Given the description of an element on the screen output the (x, y) to click on. 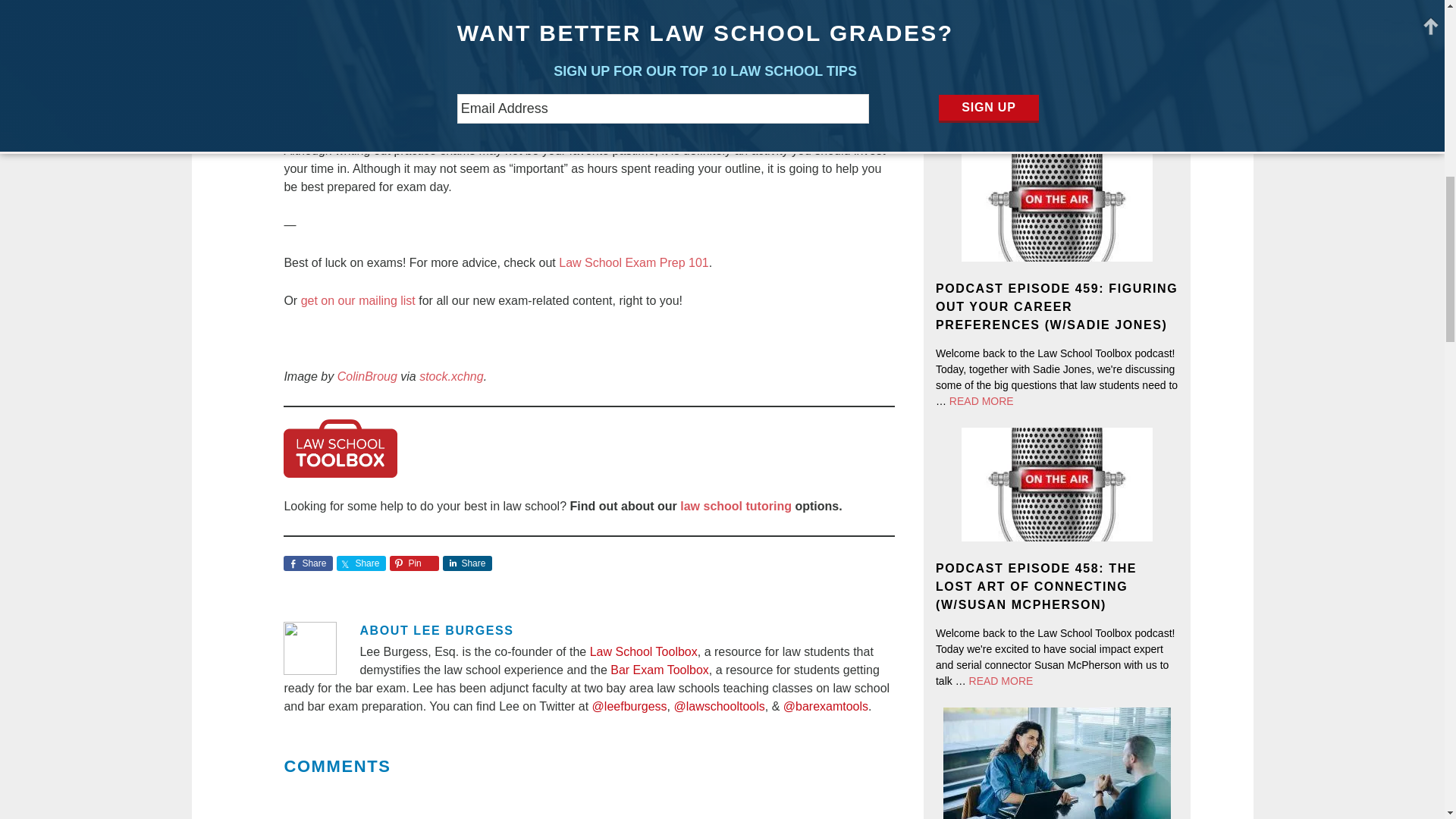
stock.xchng (451, 376)
get on our mailing list (357, 300)
Law School Exam Prep 101 (633, 262)
ColinBroug (367, 376)
Share (308, 562)
law school tutoring (735, 504)
